Given the description of an element on the screen output the (x, y) to click on. 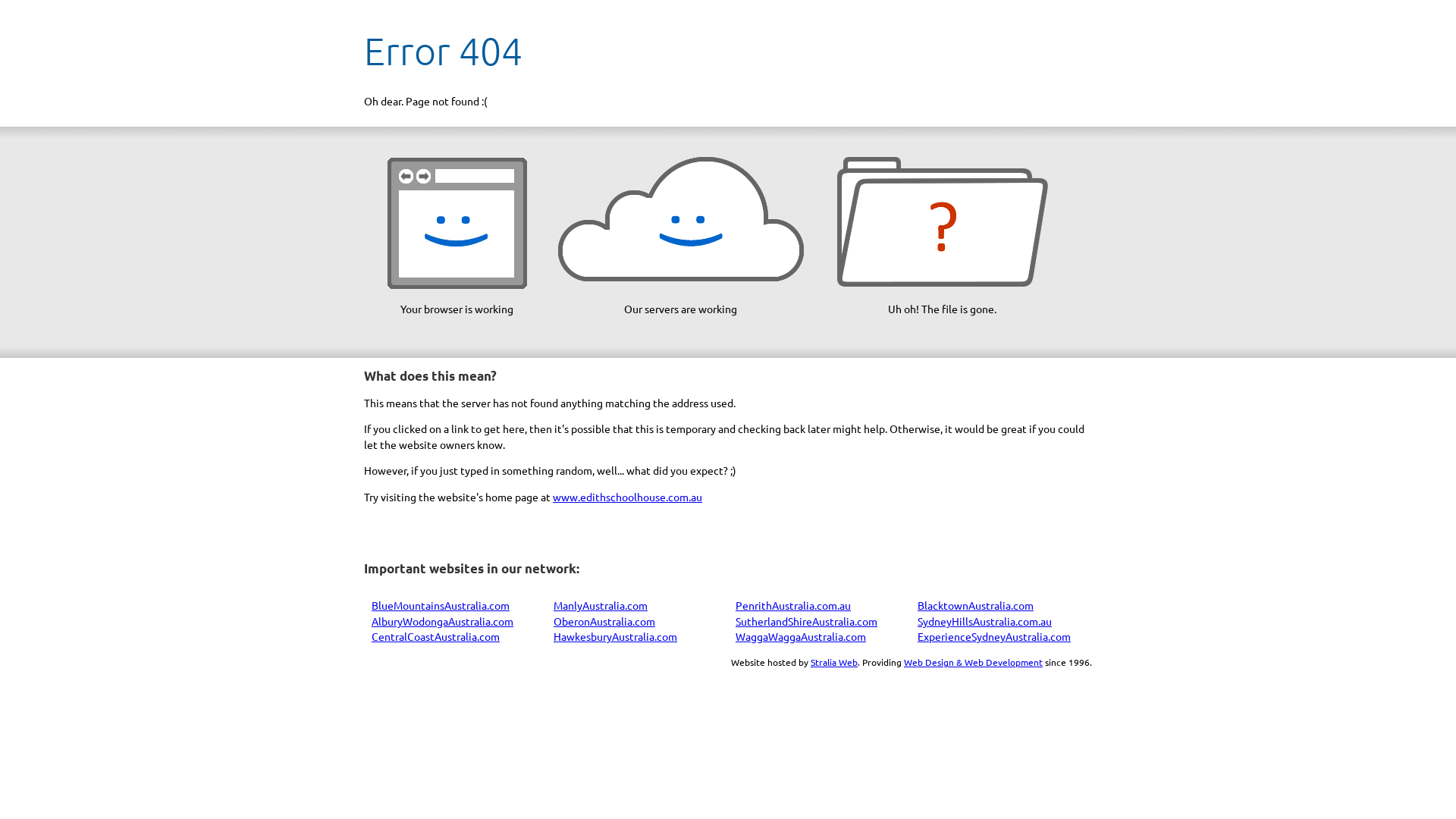
Web Design & Web Development Element type: text (972, 661)
SydneyHillsAustralia.com.au Element type: text (984, 620)
Stralia Web Element type: text (833, 661)
SutherlandShireAustralia.com Element type: text (806, 620)
BlueMountainsAustralia.com Element type: text (440, 604)
OberonAustralia.com Element type: text (604, 620)
AlburyWodongaAustralia.com Element type: text (442, 620)
ExperienceSydneyAustralia.com Element type: text (993, 636)
HawkesburyAustralia.com Element type: text (615, 636)
CentralCoastAustralia.com Element type: text (435, 636)
BlacktownAustralia.com Element type: text (975, 604)
PenrithAustralia.com.au Element type: text (792, 604)
www.edithschoolhouse.com.au Element type: text (627, 496)
WaggaWaggaAustralia.com Element type: text (800, 636)
ManlyAustralia.com Element type: text (600, 604)
